Given the description of an element on the screen output the (x, y) to click on. 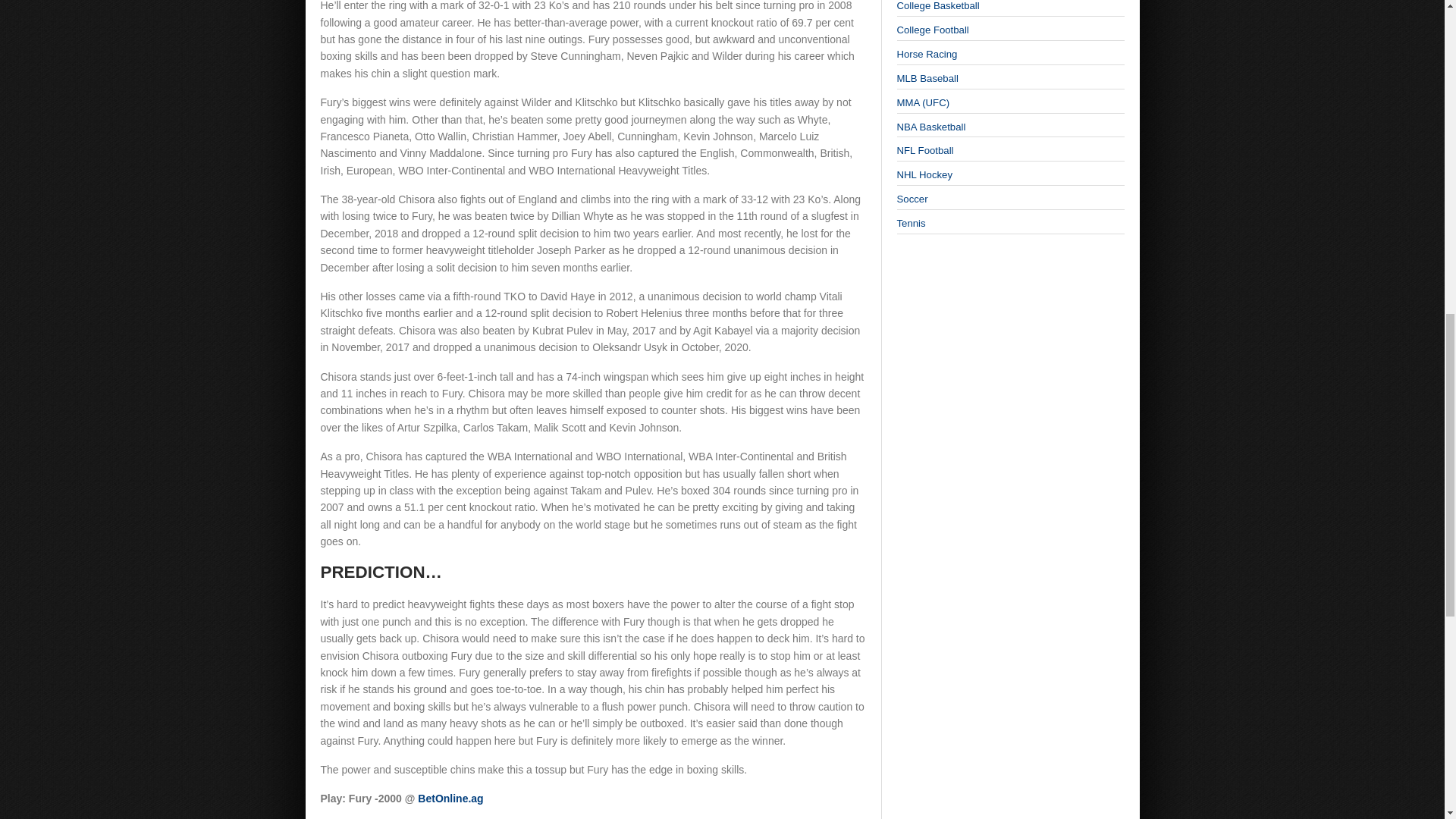
MLB Betting (927, 78)
NHL Betting (924, 174)
Horse Race Betting (926, 53)
NFL Betting (924, 150)
NBA Betting (930, 126)
NCAA Basketball Betting (937, 5)
BetOnline.ag (450, 798)
MMA Betting (922, 102)
NCAA Football Betting (932, 30)
